Given the description of an element on the screen output the (x, y) to click on. 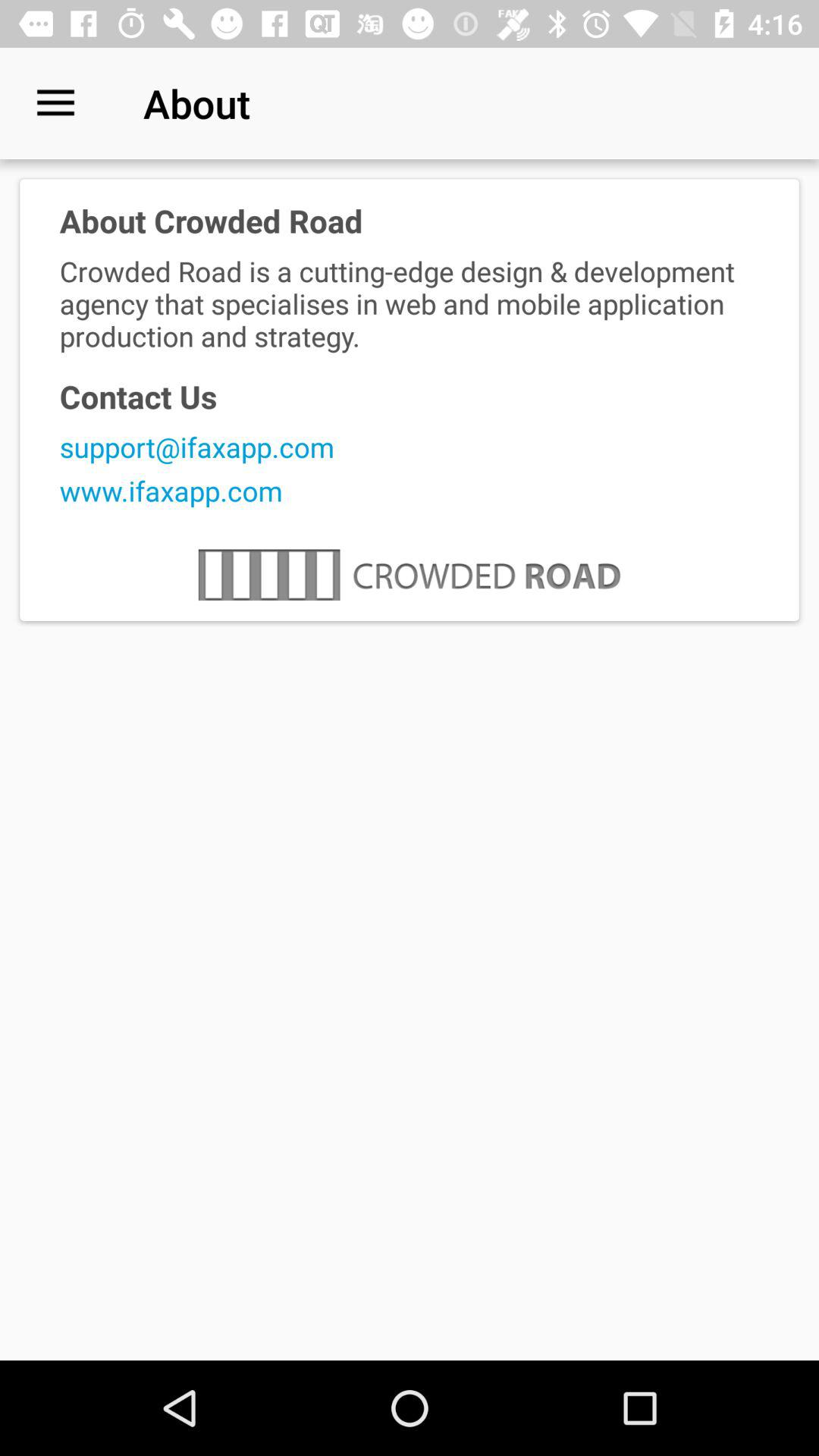
press the icon to the left of the about item (55, 103)
